Given the description of an element on the screen output the (x, y) to click on. 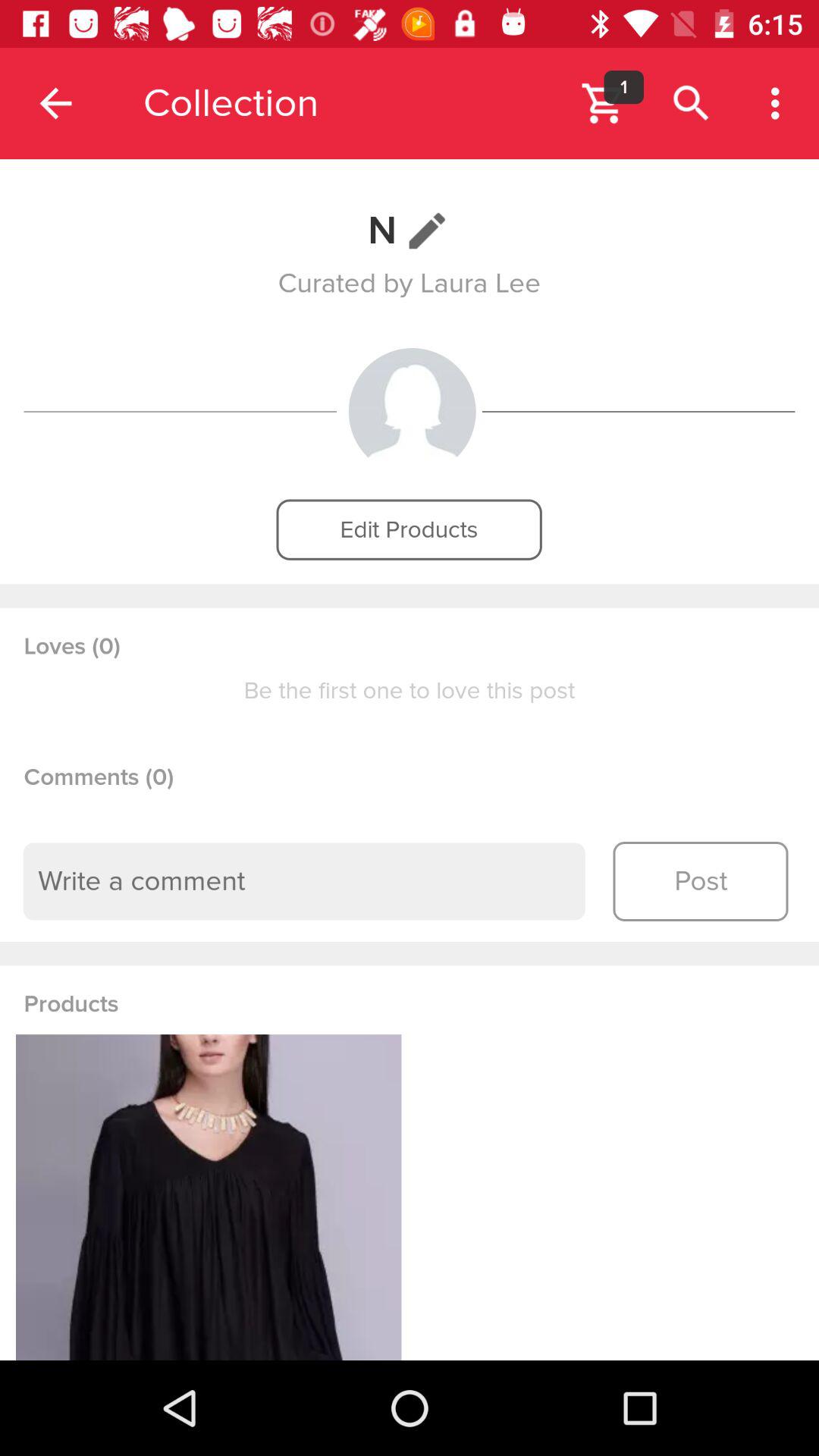
type a comment (304, 881)
